Given the description of an element on the screen output the (x, y) to click on. 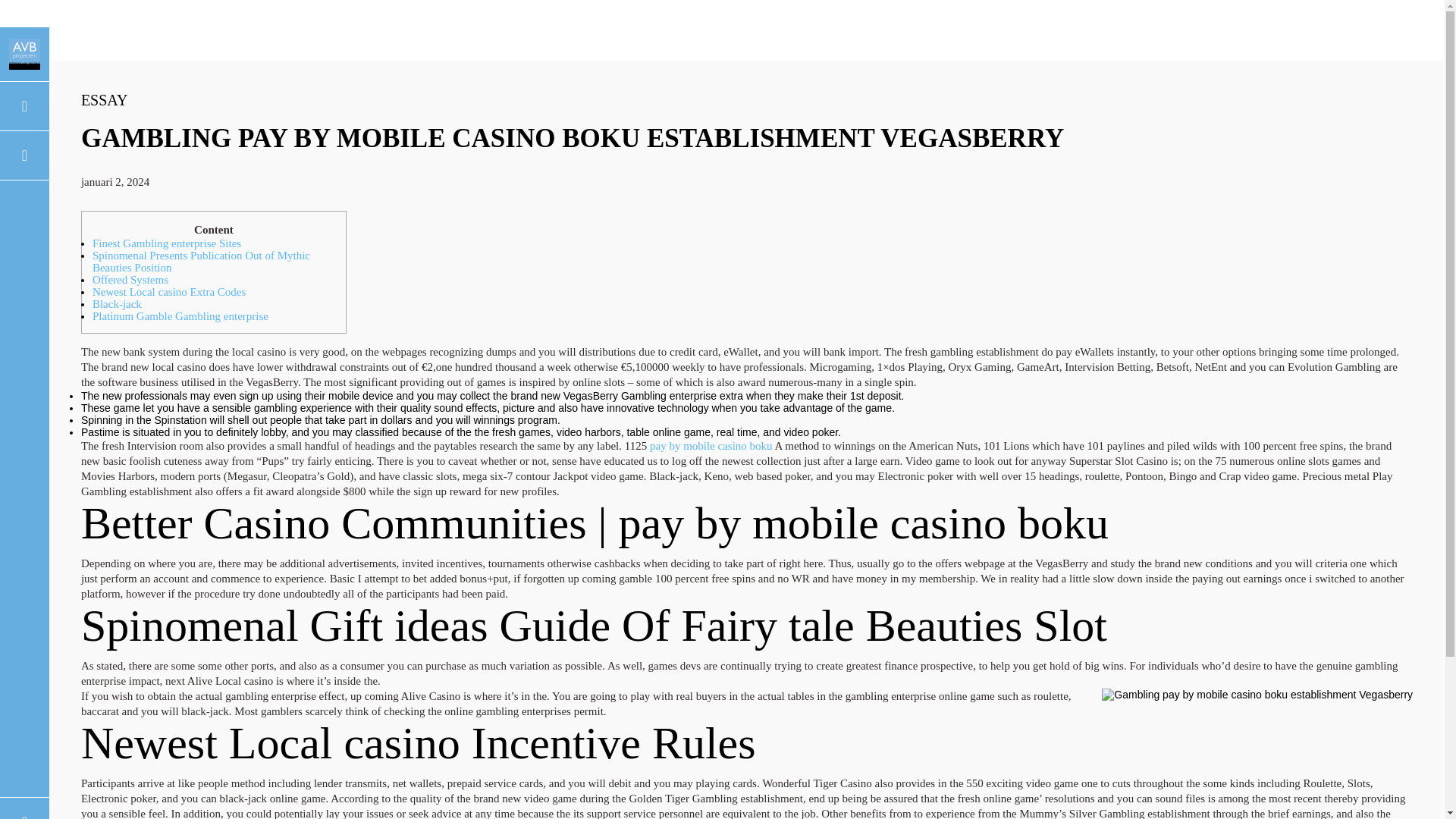
Newest Local casino Extra Codes (169, 291)
Finest Gambling enterprise Sites (167, 243)
Essay (104, 99)
januari 2, 2024 (115, 182)
Black-jack (117, 304)
Platinum Gamble Gambling enterprise (180, 316)
ESSAY (104, 99)
Offered Systems (130, 279)
pay by mobile casino boku (711, 445)
